Given the description of an element on the screen output the (x, y) to click on. 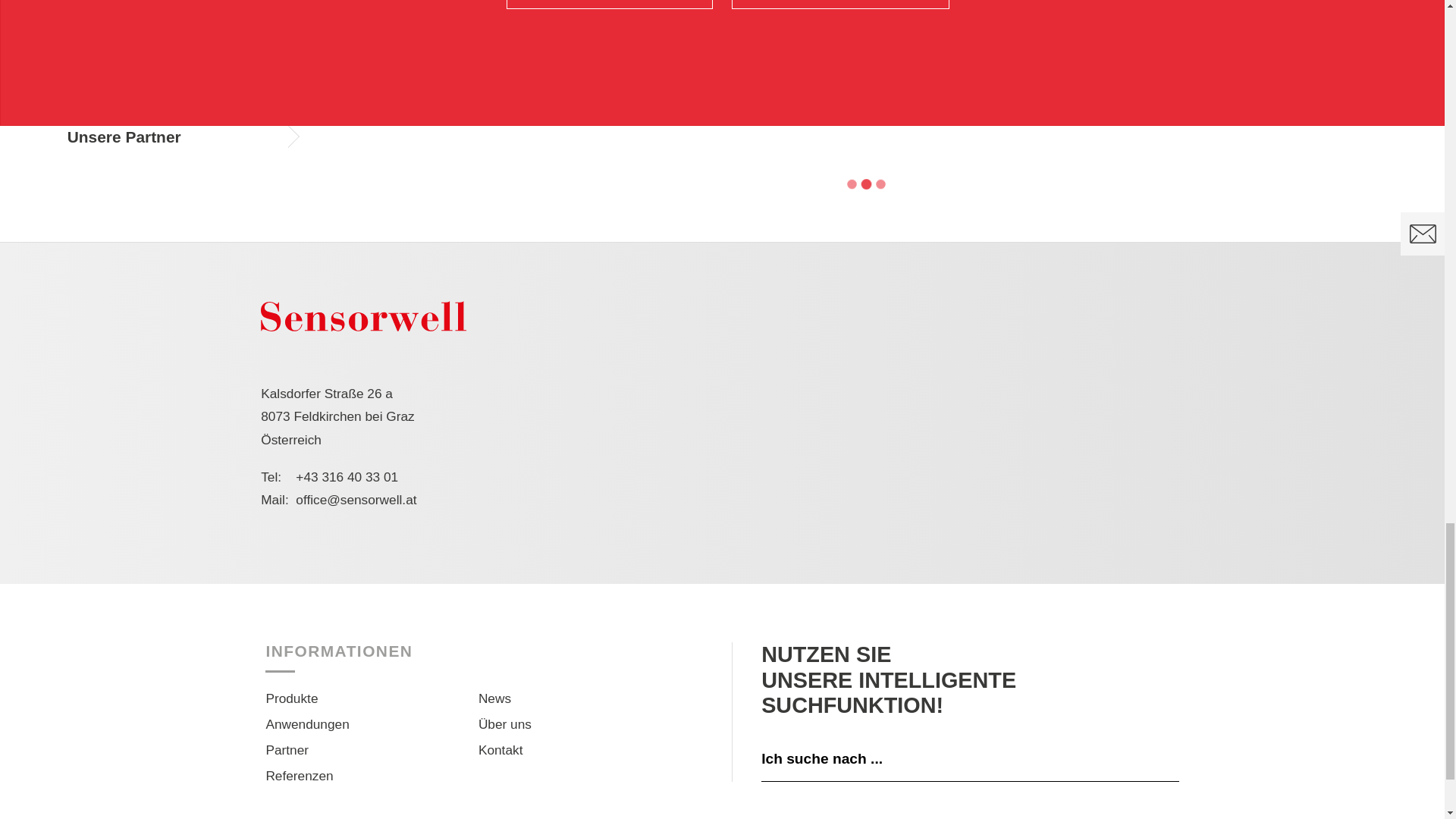
logo-sensorwell (362, 316)
